Given the description of an element on the screen output the (x, y) to click on. 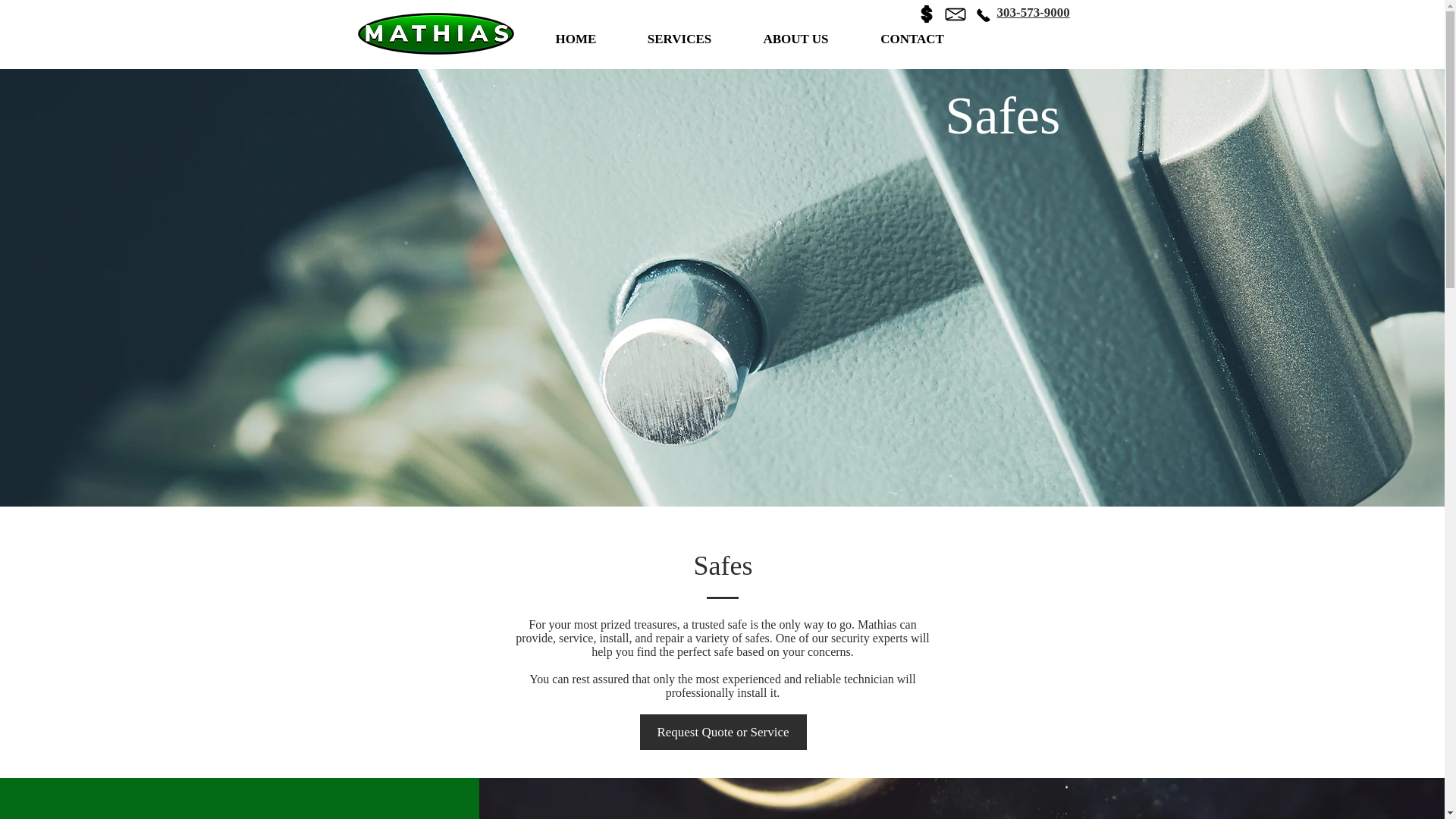
HOME (575, 39)
SERVICES (678, 39)
Request Quote or Service (723, 732)
ABOUT US (796, 39)
CONTACT (912, 39)
303-573-9000 (1031, 11)
